Given the description of an element on the screen output the (x, y) to click on. 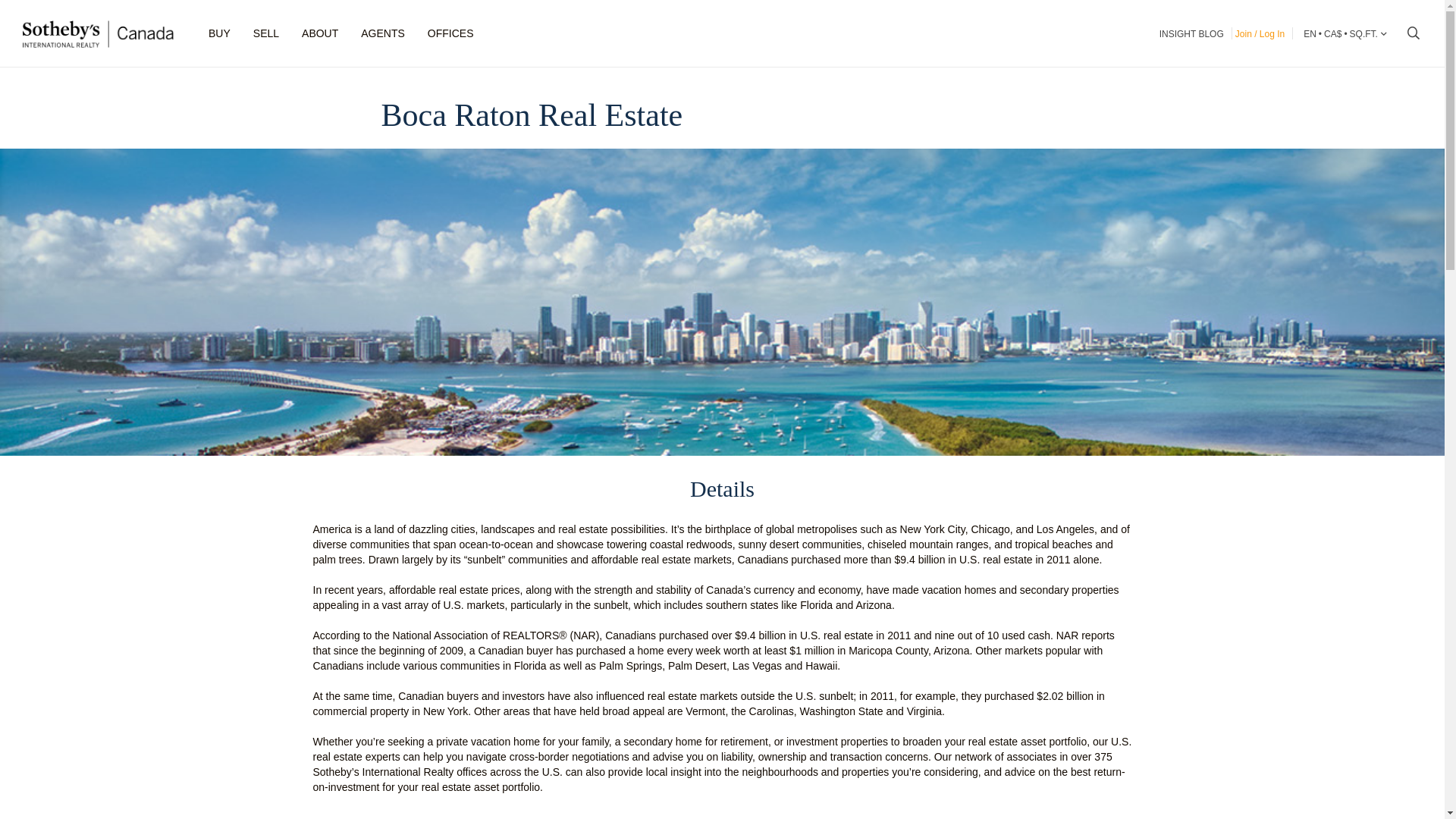
OFFICES (450, 33)
BUY (218, 33)
INSIGHT BLOG (1191, 34)
AGENTS (382, 33)
ABOUT (319, 33)
SELL (265, 33)
